Given the description of an element on the screen output the (x, y) to click on. 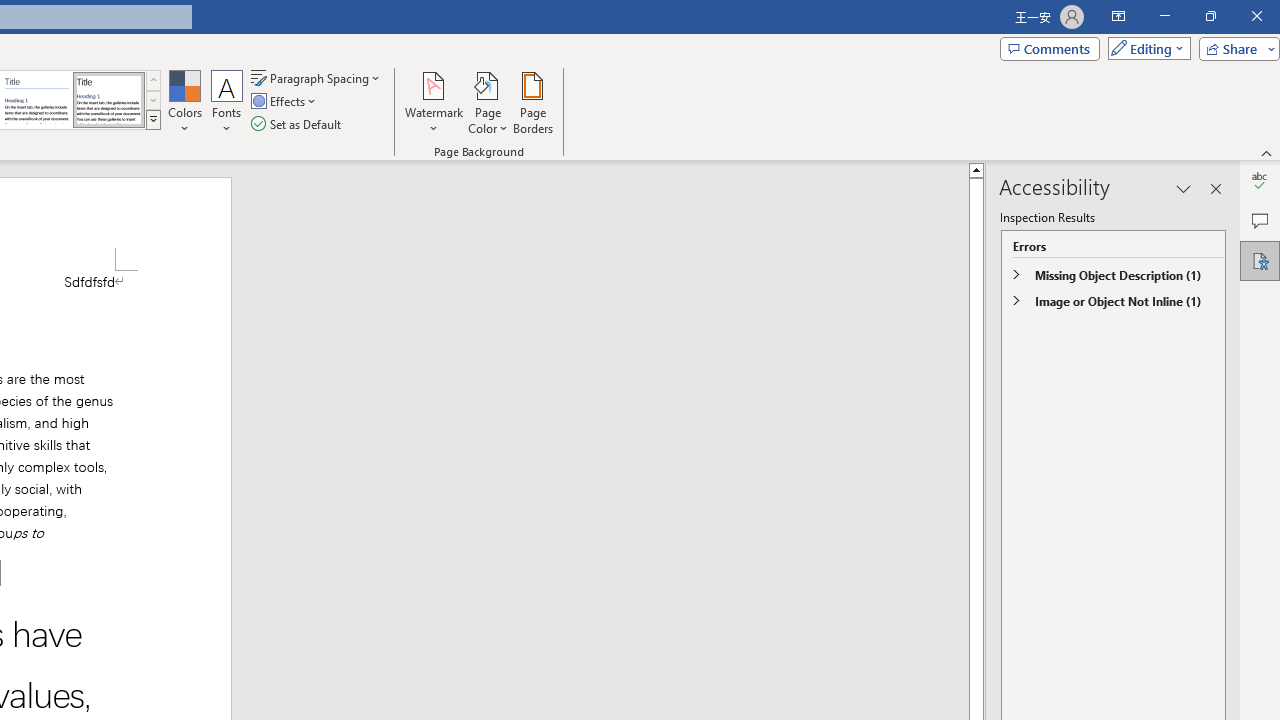
Accessibility (1260, 260)
Word 2010 (36, 100)
Effects (285, 101)
Fonts (227, 102)
Style Set (153, 120)
Colors (184, 102)
Page Borders... (532, 102)
Watermark (434, 102)
Paragraph Spacing (317, 78)
